Given the description of an element on the screen output the (x, y) to click on. 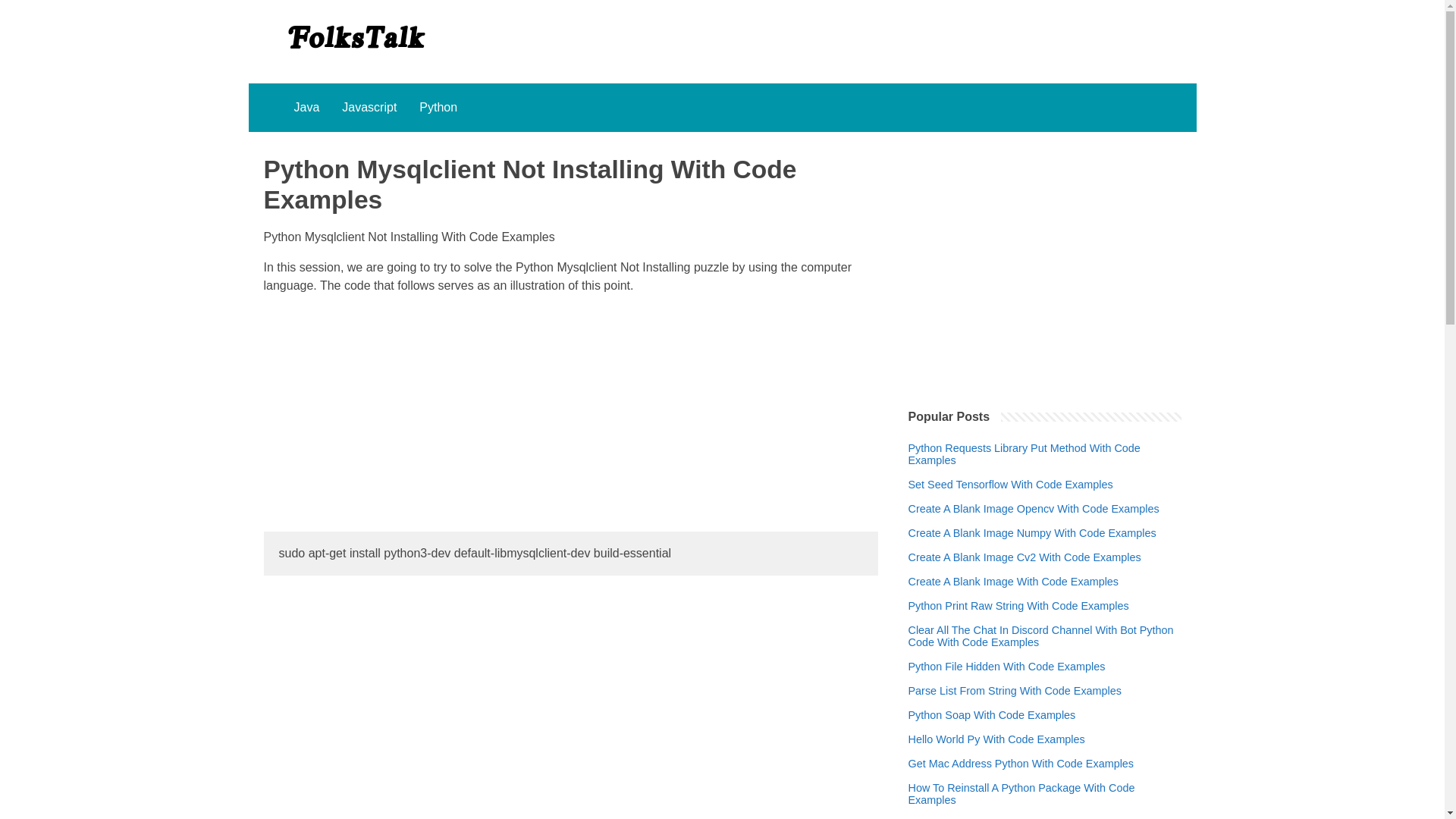
Javascript (369, 107)
Python Print Raw String With Code Examples (1018, 605)
Python (438, 107)
How To Reinstall A Python Package With Code Examples (1044, 793)
Python Requests Library Put Method With Code Examples (1044, 454)
Create A Blank Image Cv2 With Code Examples (1024, 557)
Python Soap With Code Examples (991, 715)
Python File Hidden With Code Examples (1006, 666)
Hello World Py With Code Examples (996, 739)
